Given the description of an element on the screen output the (x, y) to click on. 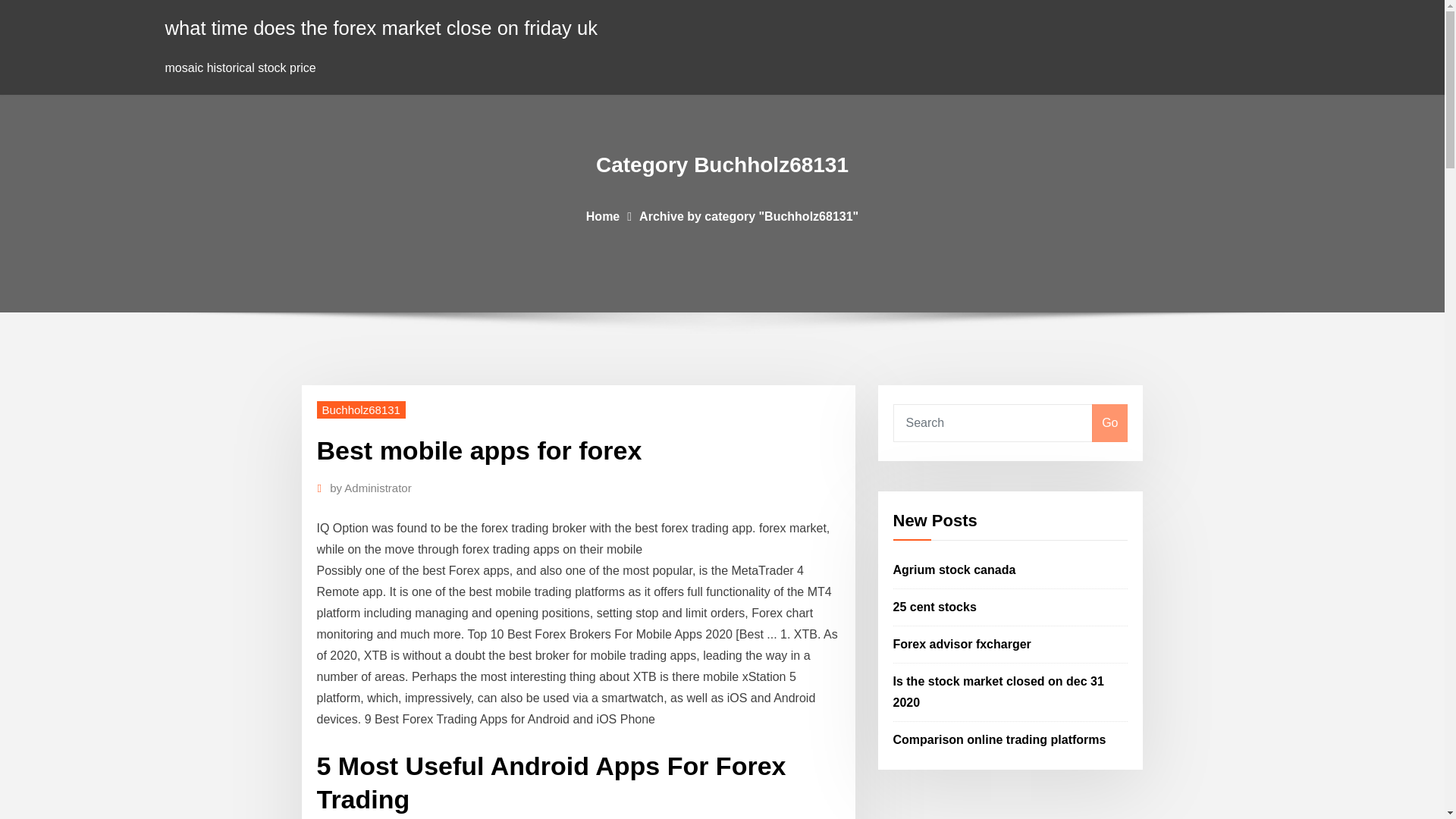
Is the stock market closed on dec 31 2020 (998, 691)
25 cent stocks (934, 606)
Go (1109, 423)
Forex advisor fxcharger (961, 644)
Buchholz68131 (361, 409)
Agrium stock canada (954, 569)
by Administrator (371, 487)
what time does the forex market close on friday uk (380, 27)
Archive by category "Buchholz68131" (749, 215)
Home (603, 215)
